Given the description of an element on the screen output the (x, y) to click on. 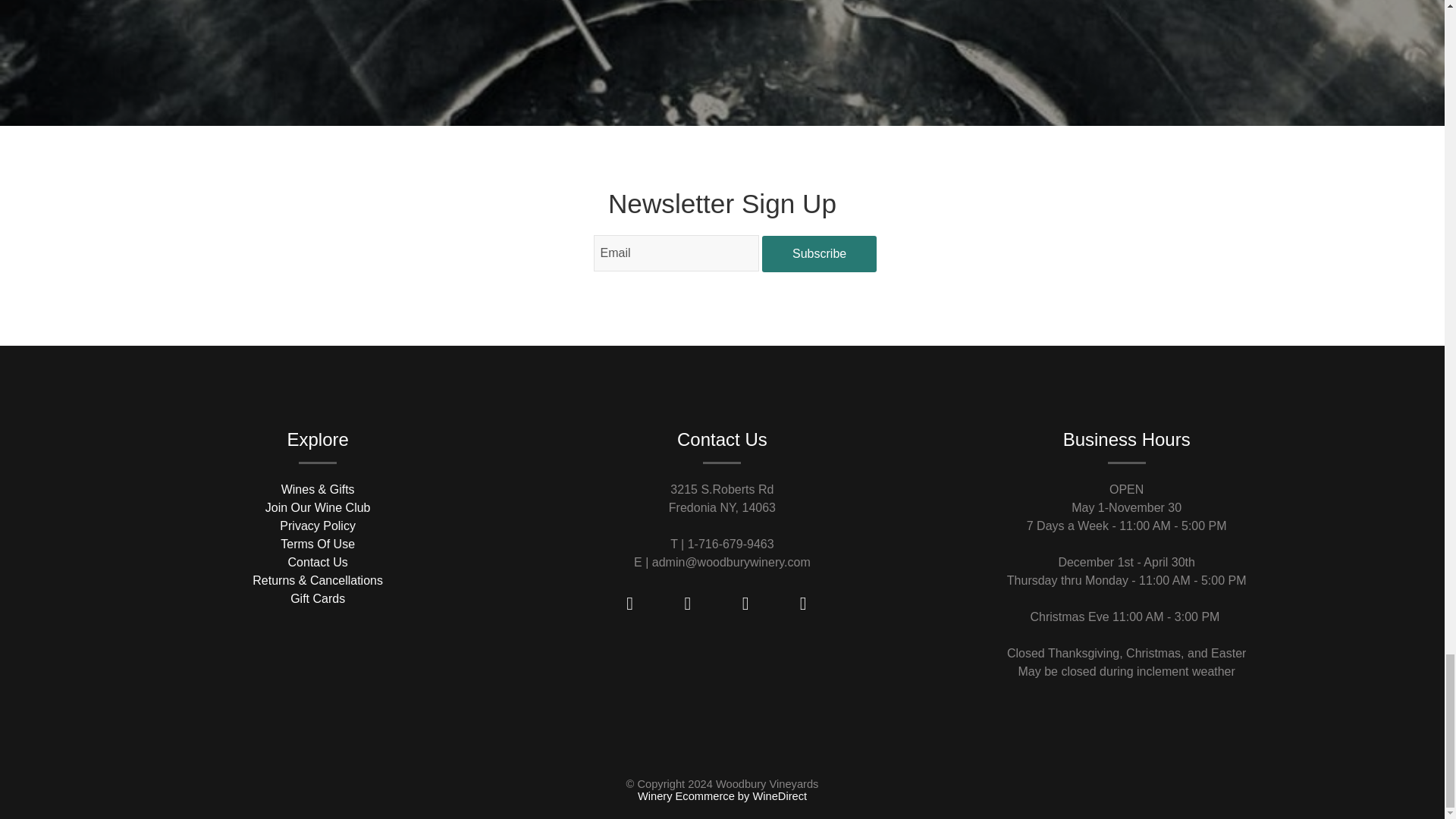
Email (676, 253)
